Given the description of an element on the screen output the (x, y) to click on. 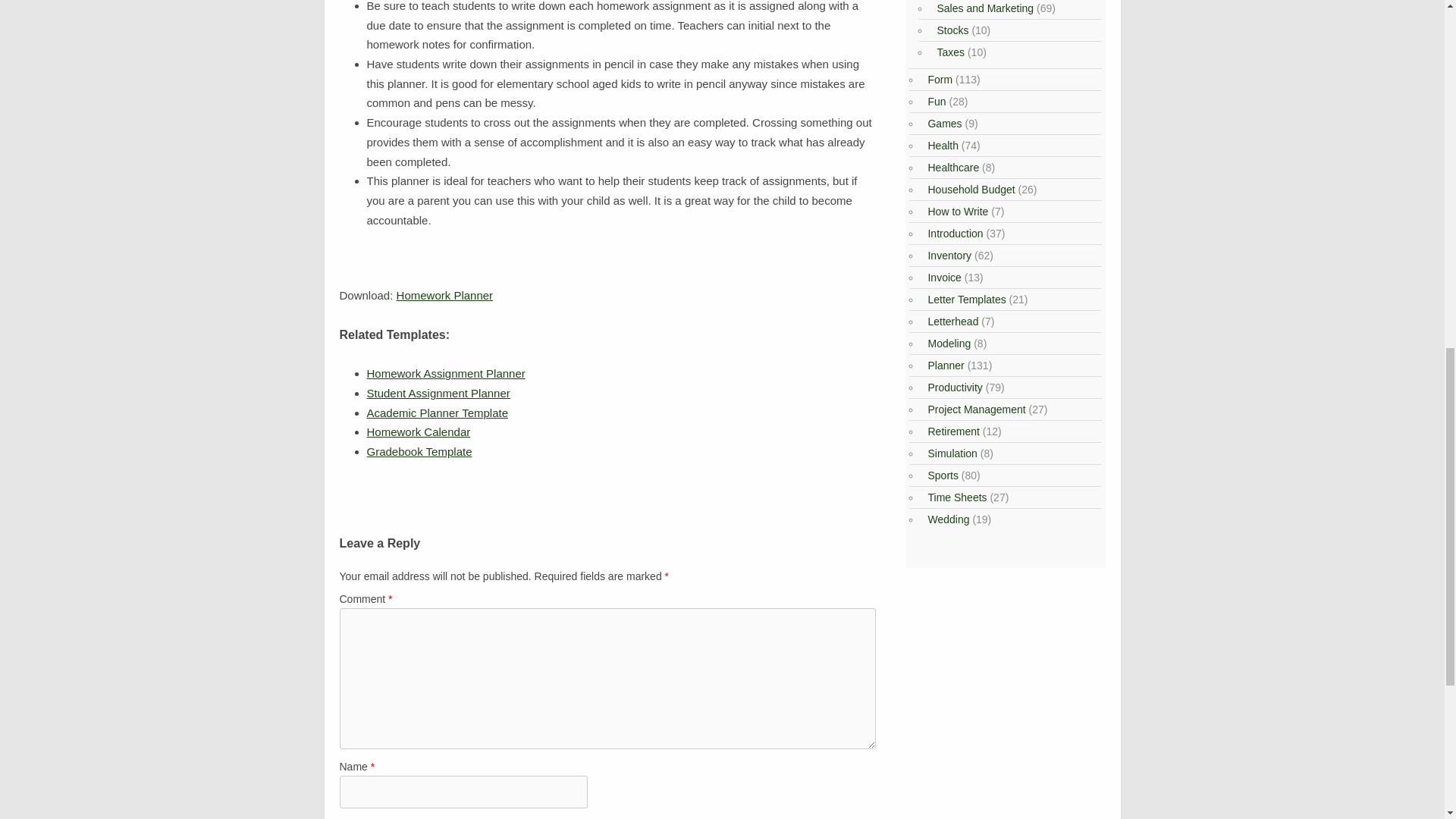
August 10, 2015 (445, 373)
Gradebook Template (418, 451)
July 31, 2013 (438, 392)
February 28, 2013 (418, 451)
Homework Assignment Planner (445, 373)
December 9, 2015 (418, 431)
Homework Calendar (418, 431)
March 1, 2013 (437, 412)
Homework Planner (444, 295)
Academic Planner Template (437, 412)
